Given the description of an element on the screen output the (x, y) to click on. 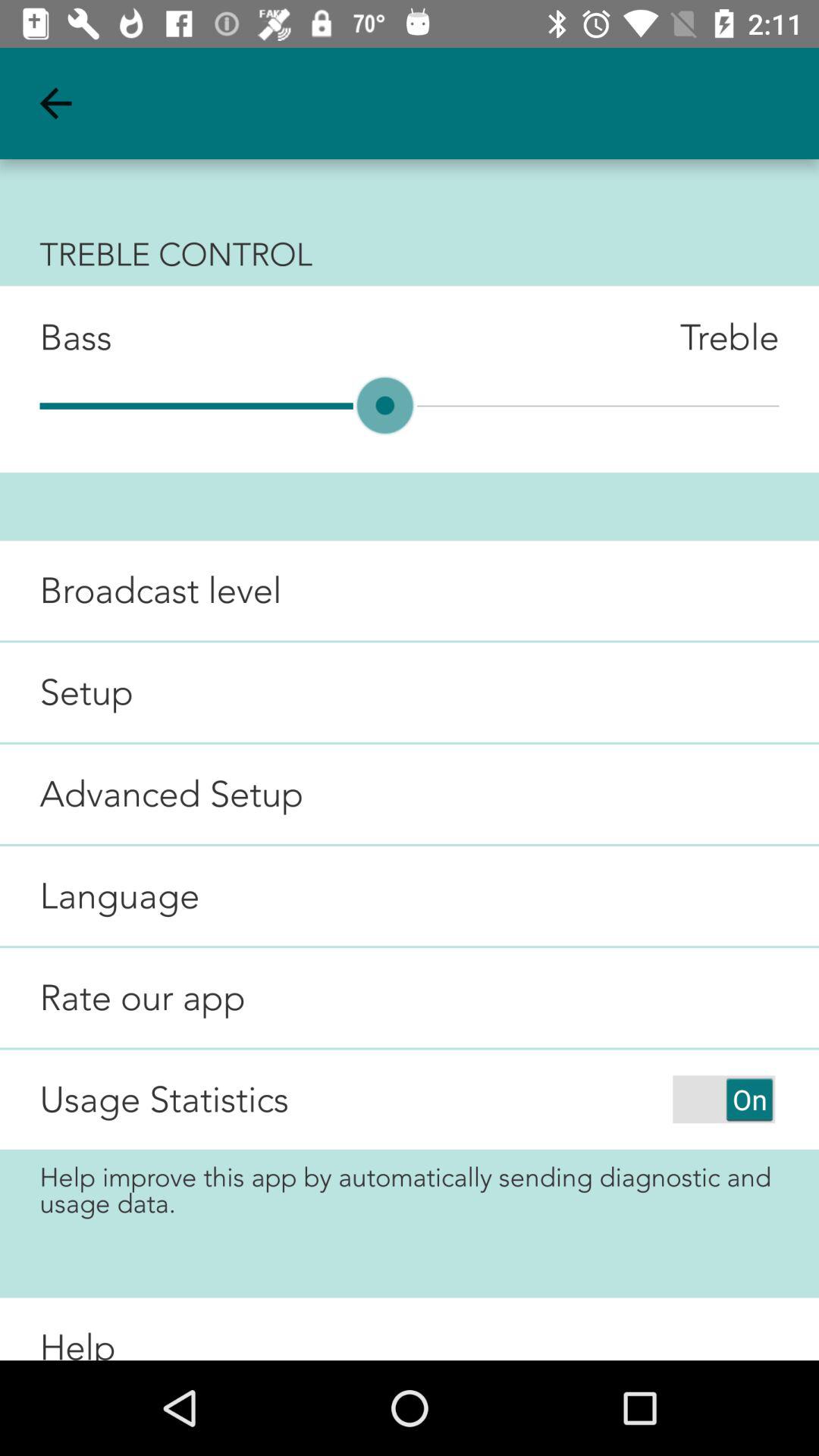
scroll to the language icon (99, 895)
